Given the description of an element on the screen output the (x, y) to click on. 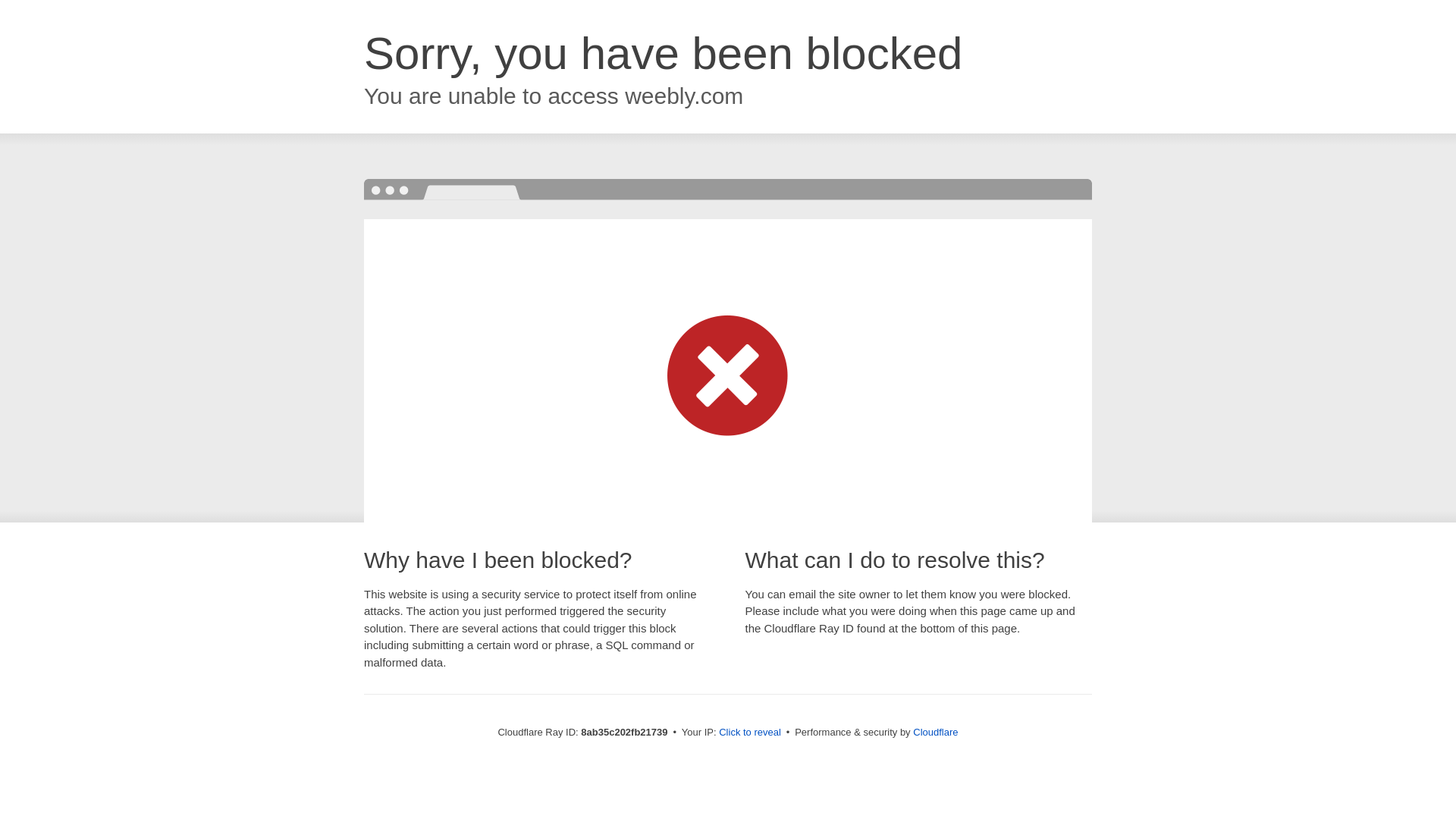
Click to reveal (749, 732)
Cloudflare (935, 731)
